Given the description of an element on the screen output the (x, y) to click on. 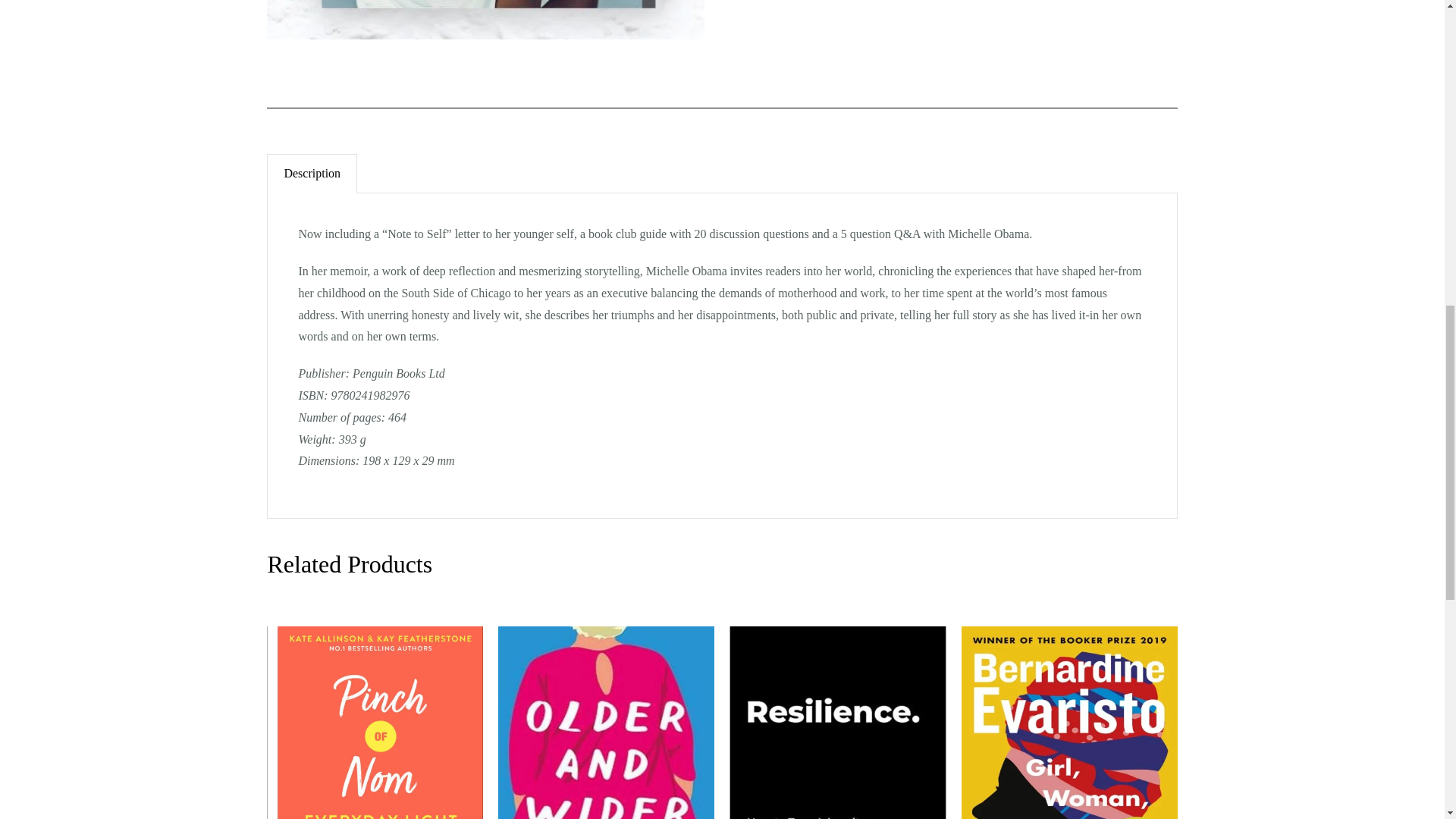
BecomingByMichelleObamaPaperbackBookLS (484, 19)
